Given the description of an element on the screen output the (x, y) to click on. 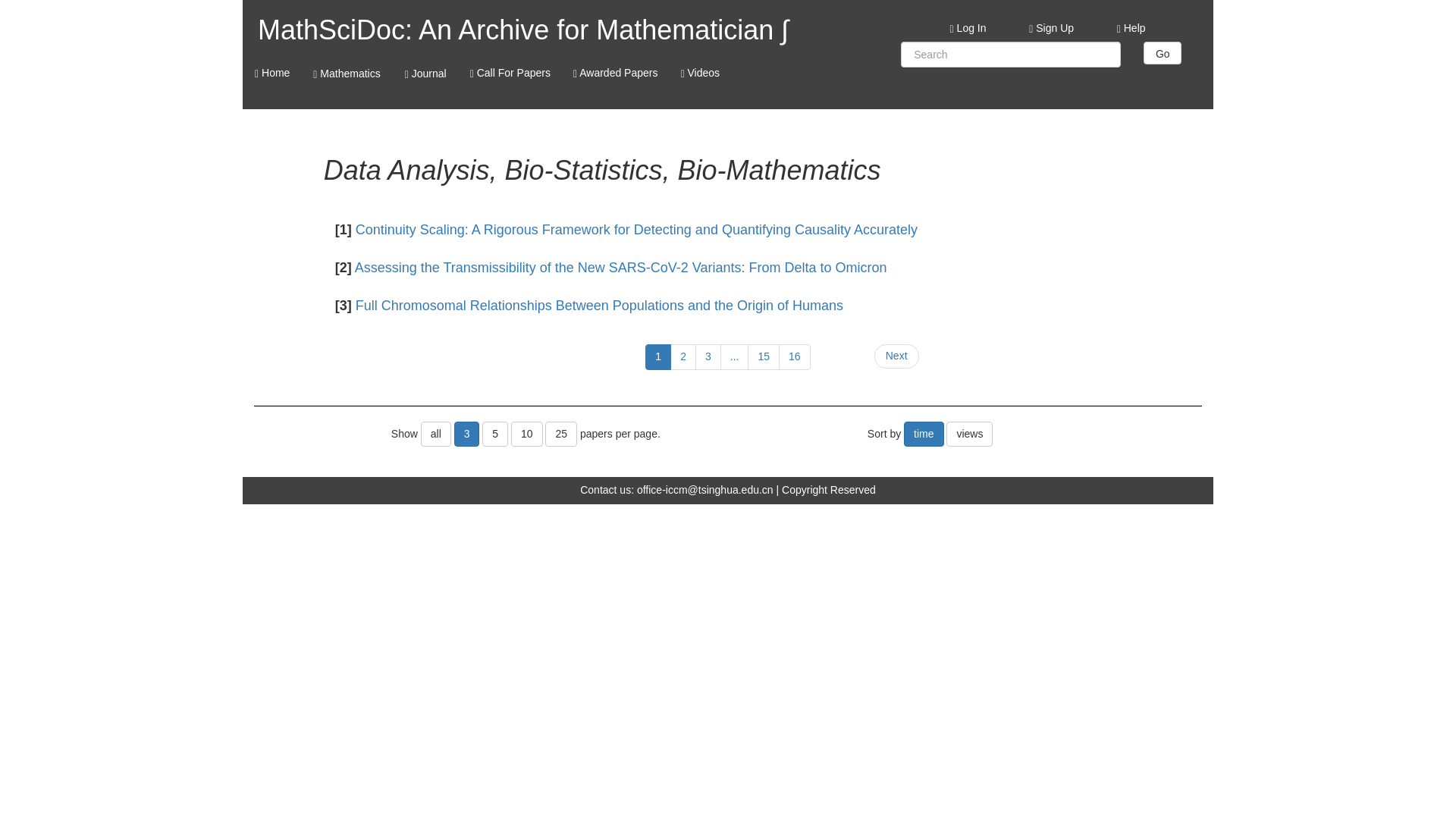
Home (272, 72)
Mathematics (346, 73)
